Given the description of an element on the screen output the (x, y) to click on. 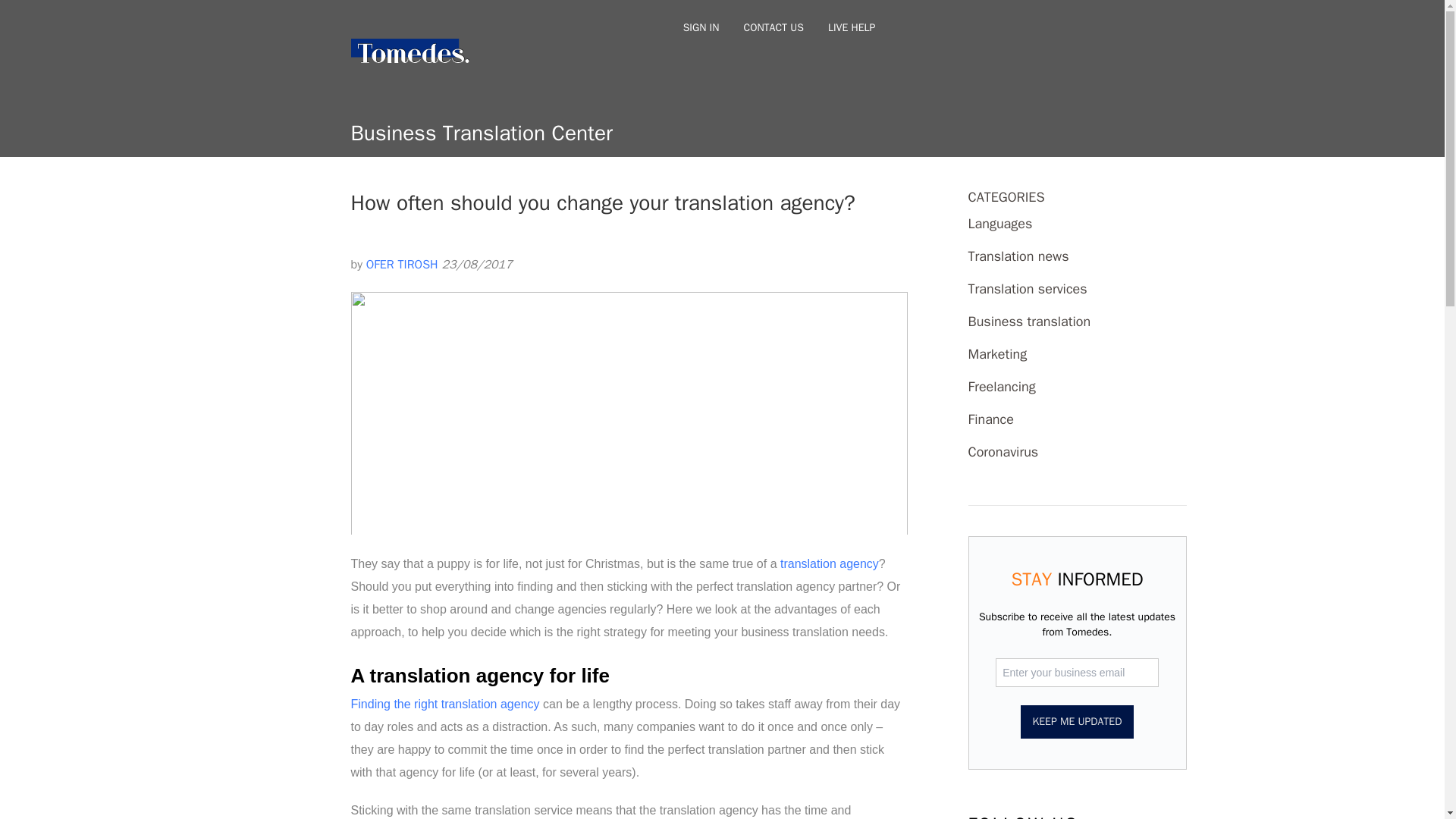
Marketing (997, 353)
Finance (990, 419)
LIVE HELP (850, 27)
Freelancing (1001, 386)
Translation services (1027, 288)
Languages (1000, 223)
CONTACT US (772, 27)
Business translation (1029, 321)
translation agency (829, 563)
OFER TIROSH (402, 264)
